Given the description of an element on the screen output the (x, y) to click on. 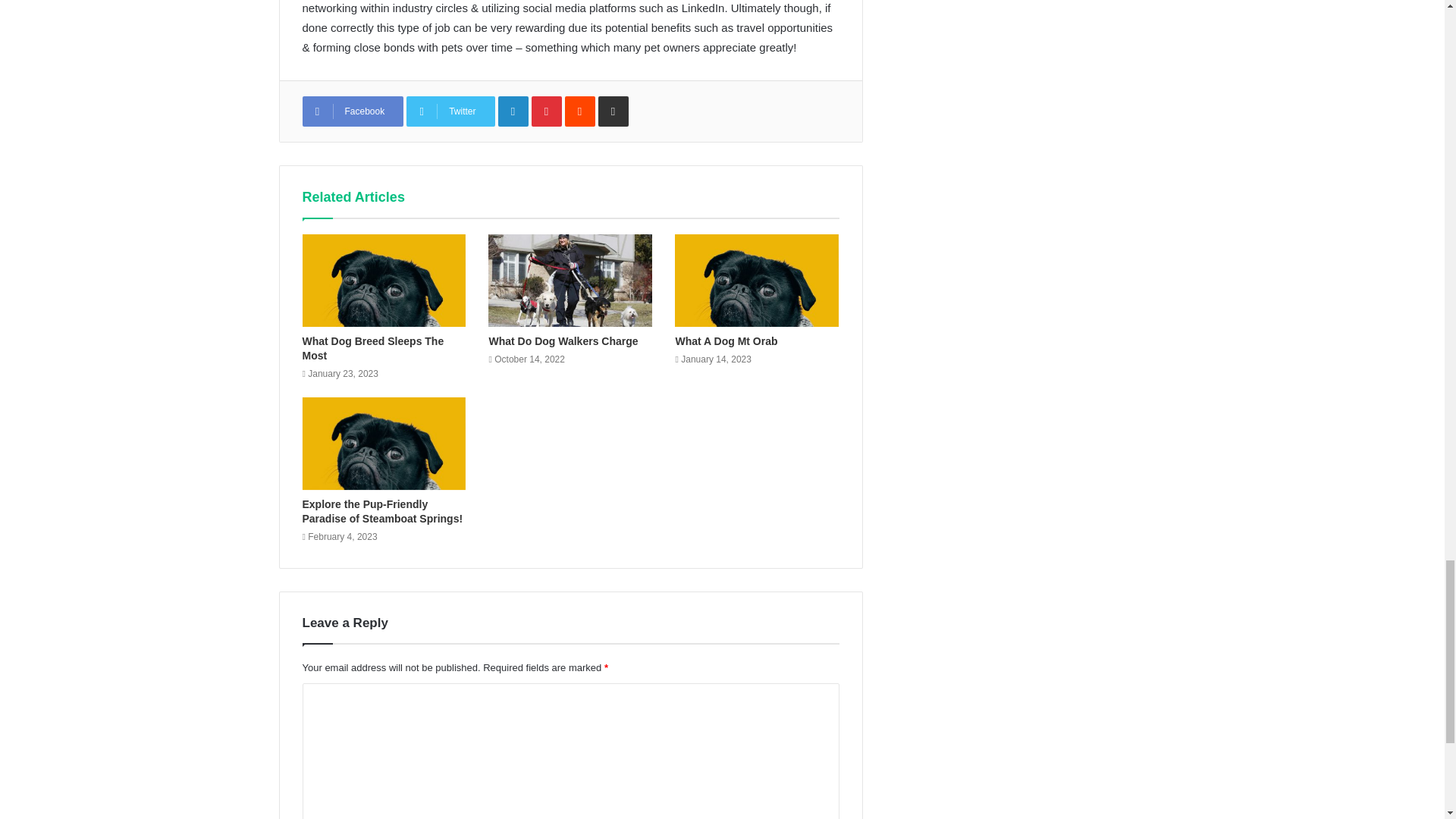
What A Dog Mt Orab (756, 280)
What Dog Breed Sleeps The Most (372, 347)
Explore the Pup-Friendly Paradise of Steamboat Springs! (382, 510)
What Do Dog Walkers Charge (562, 340)
What Dog Breed Sleeps The Most (383, 280)
Explore the Pup-Friendly Paradise of Steamboat Springs! (383, 443)
What A Dog Mt Orab (726, 340)
What Do Dog Walkers Charge (569, 280)
